Given the description of an element on the screen output the (x, y) to click on. 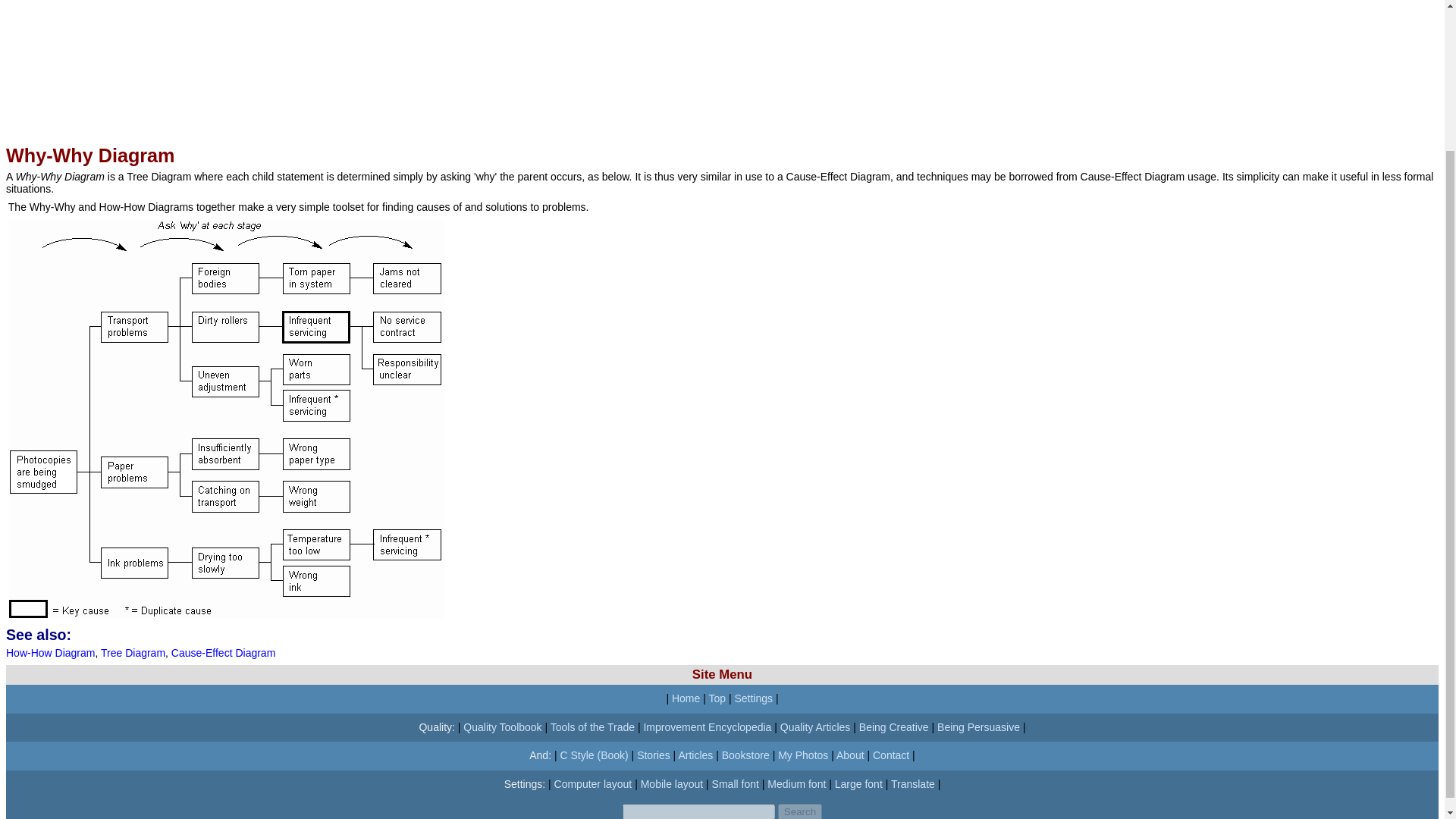
Mobile layout (671, 784)
Articles (695, 755)
Home (685, 698)
About (849, 755)
Being Creative (893, 727)
Contact (890, 755)
Tools of the Trade (592, 727)
Being Persuasive (978, 727)
How-How Diagram (49, 653)
Advertisement (460, 63)
Tree Diagram (132, 653)
Medium font (796, 784)
Improvement Encyclopedia (707, 727)
Stories (653, 755)
Settings (753, 698)
